Given the description of an element on the screen output the (x, y) to click on. 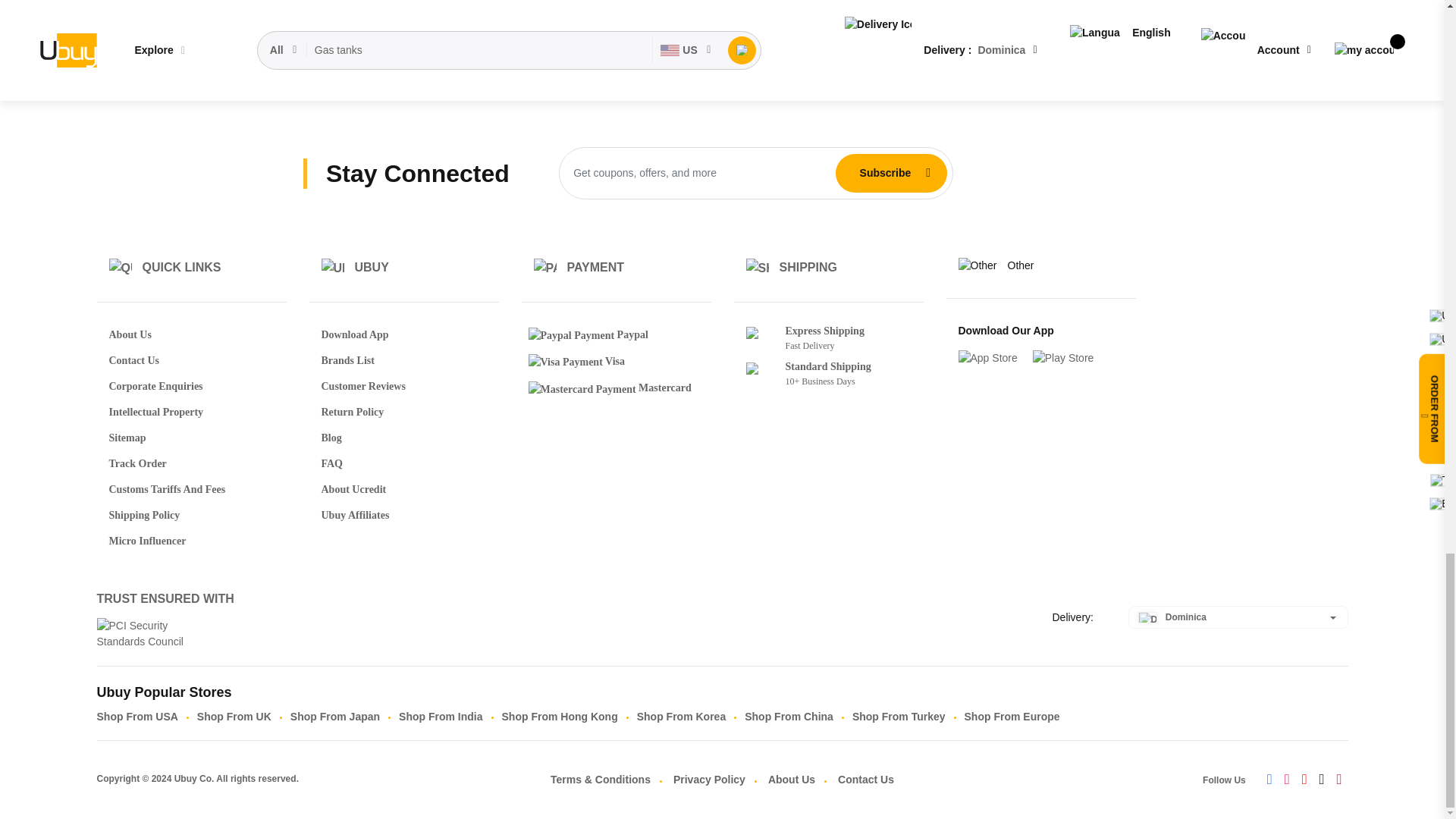
Subscribe (885, 173)
